Given the description of an element on the screen output the (x, y) to click on. 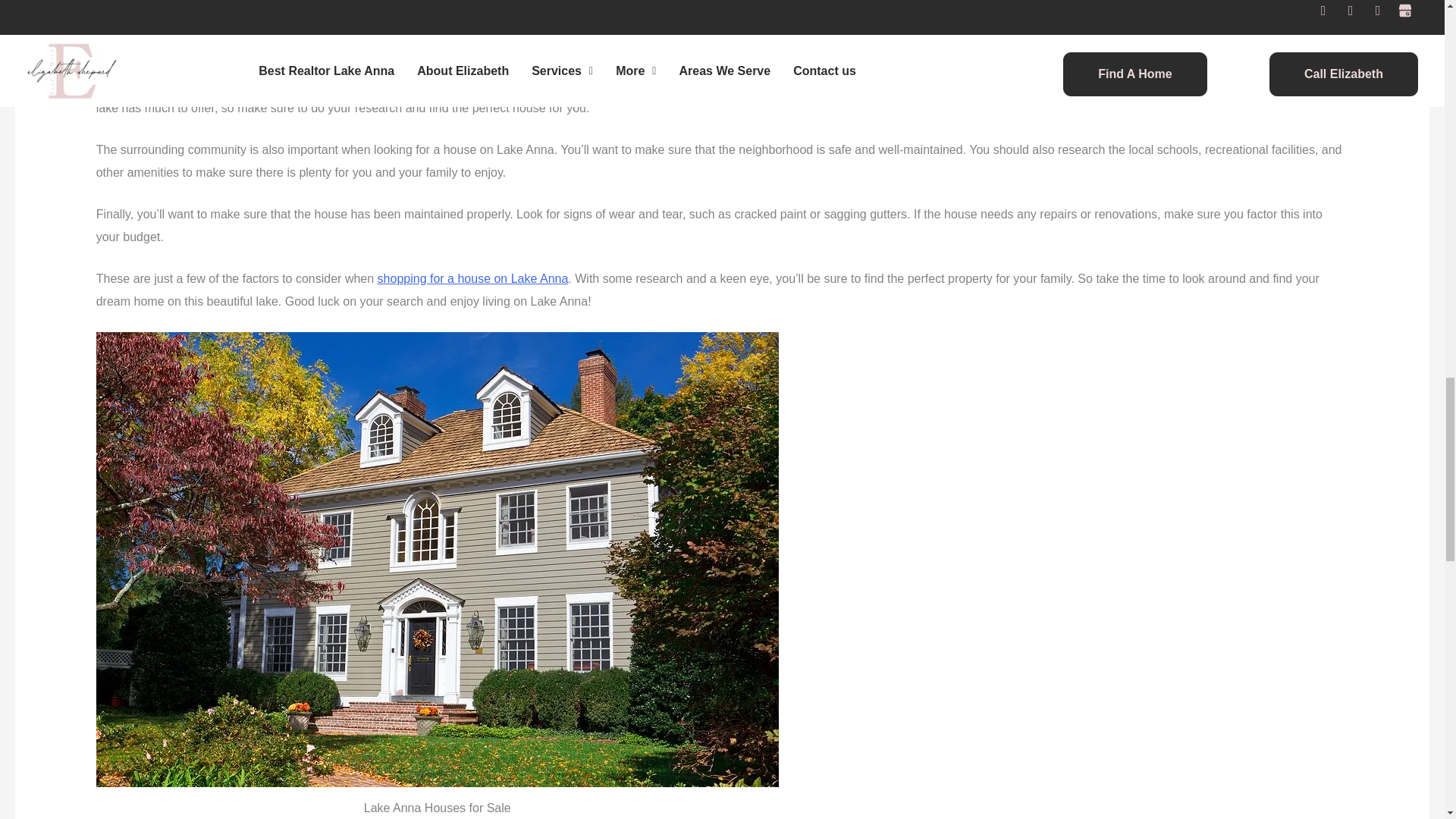
Buying a house on Lake Anna (176, 84)
shopping for a house on Lake Anna (473, 278)
